Given the description of an element on the screen output the (x, y) to click on. 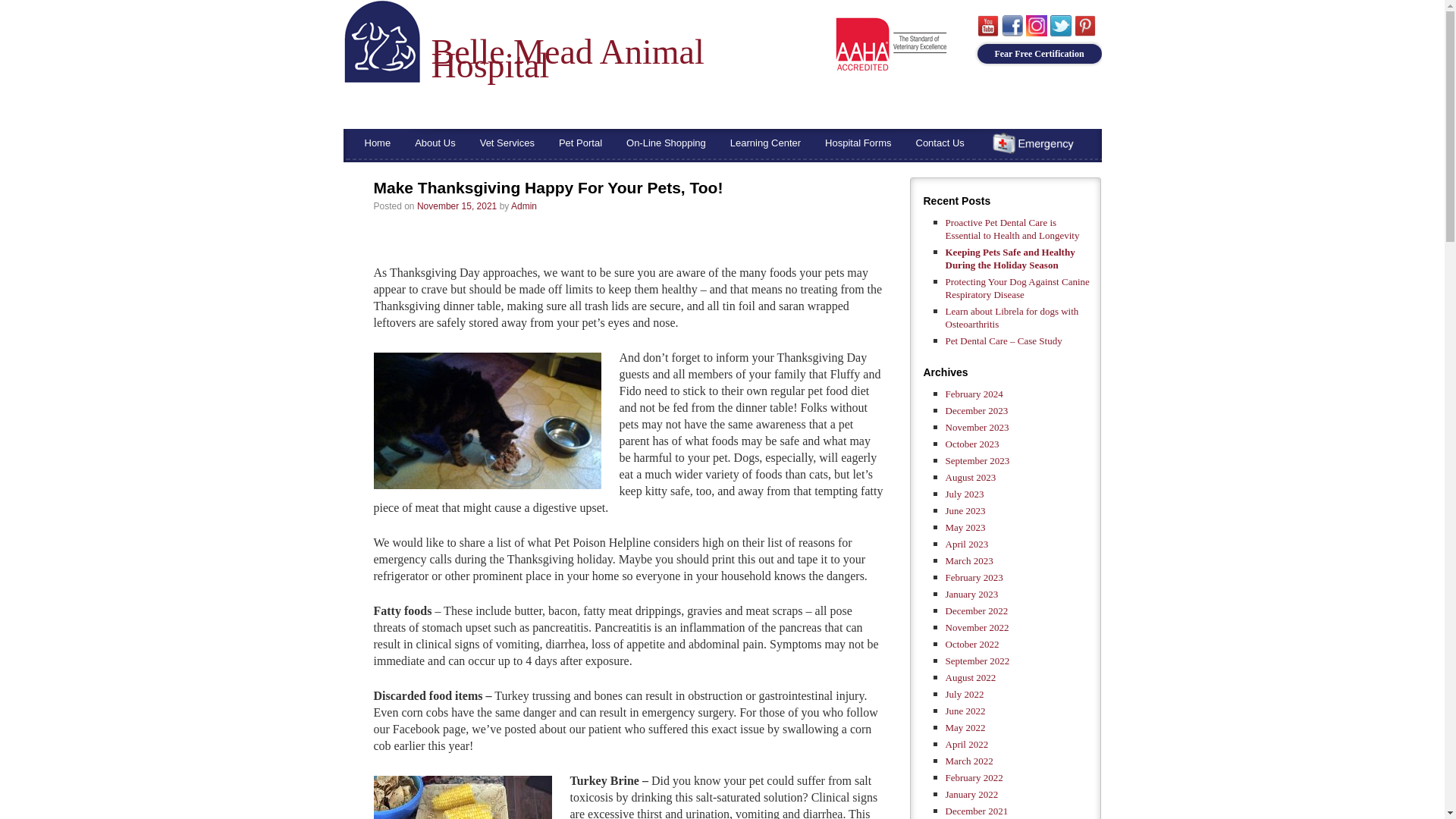
Fear Free Certification (1038, 53)
View all posts by Admin (524, 205)
Home (377, 143)
Pet Portal (580, 143)
Vet Services (507, 143)
Learning Center (764, 143)
On-Line Shopping (665, 143)
9:28 pm (456, 205)
About Us (435, 143)
